Given the description of an element on the screen output the (x, y) to click on. 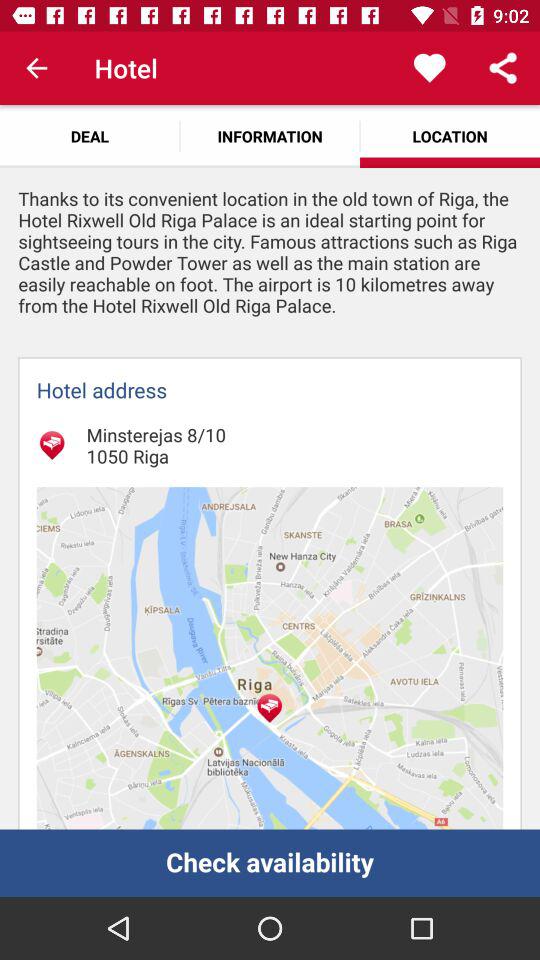
click check availability item (270, 862)
